Given the description of an element on the screen output the (x, y) to click on. 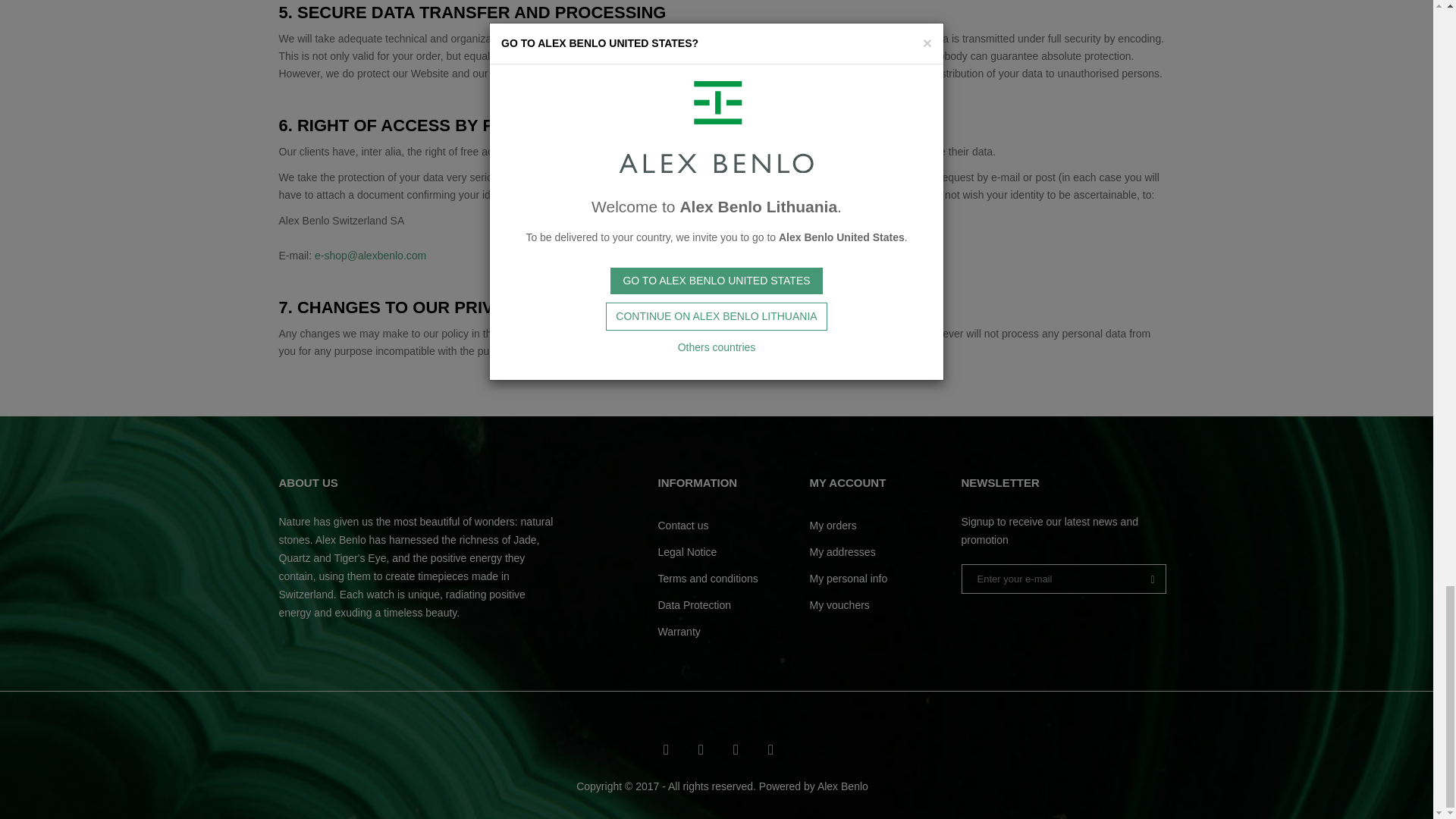
Enter your e-mail (1063, 578)
